Given the description of an element on the screen output the (x, y) to click on. 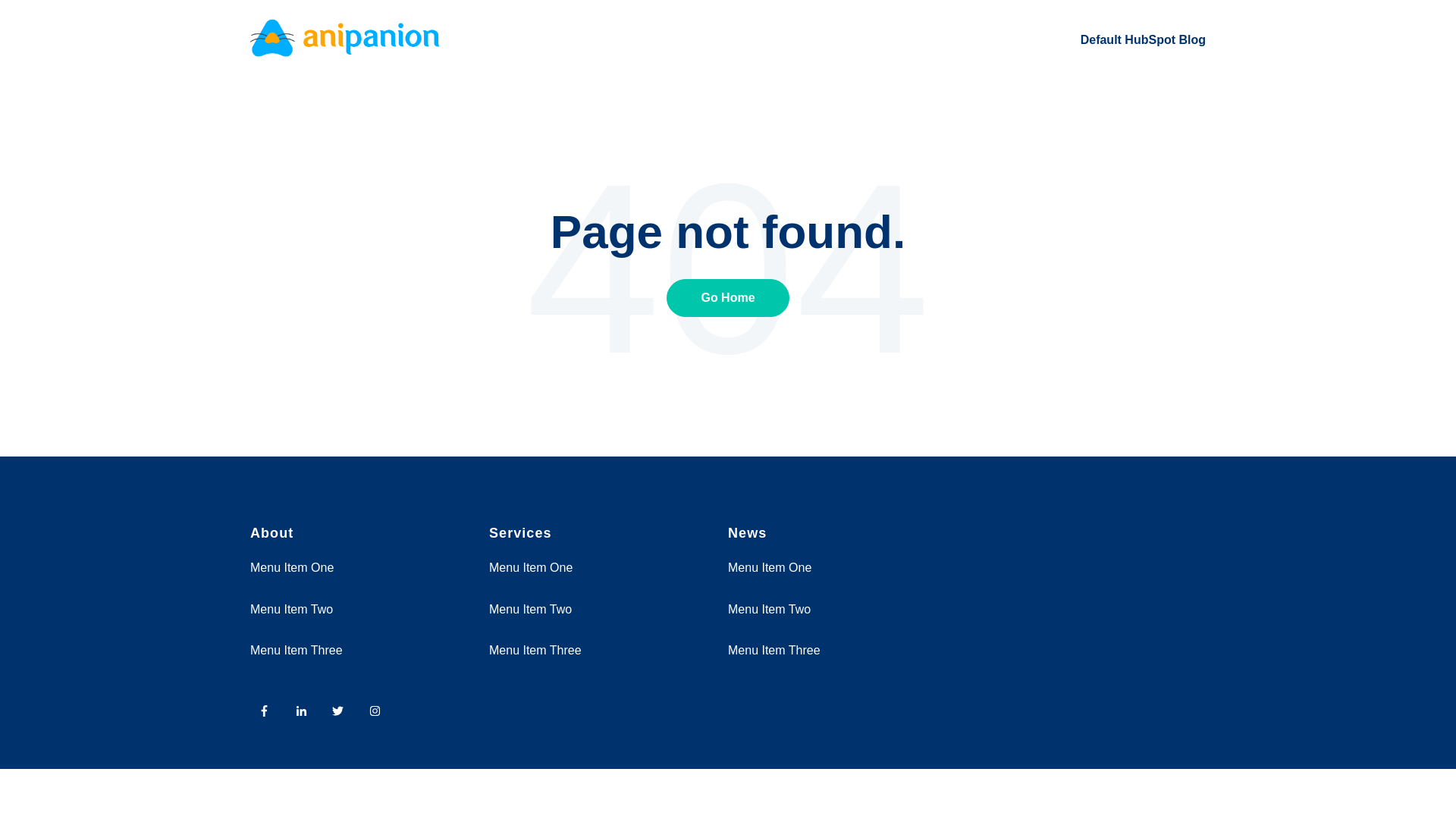
Menu Item One (769, 567)
Default HubSpot Blog (1142, 39)
Menu Item Two (291, 608)
Follow us on Twitter (342, 714)
Follow us on Instagram (379, 714)
Follow us on Facebook (268, 714)
Follow us on LinkedIn (305, 714)
Menu Item One (291, 567)
Menu Item Three (774, 649)
Go Home (727, 297)
